Given the description of an element on the screen output the (x, y) to click on. 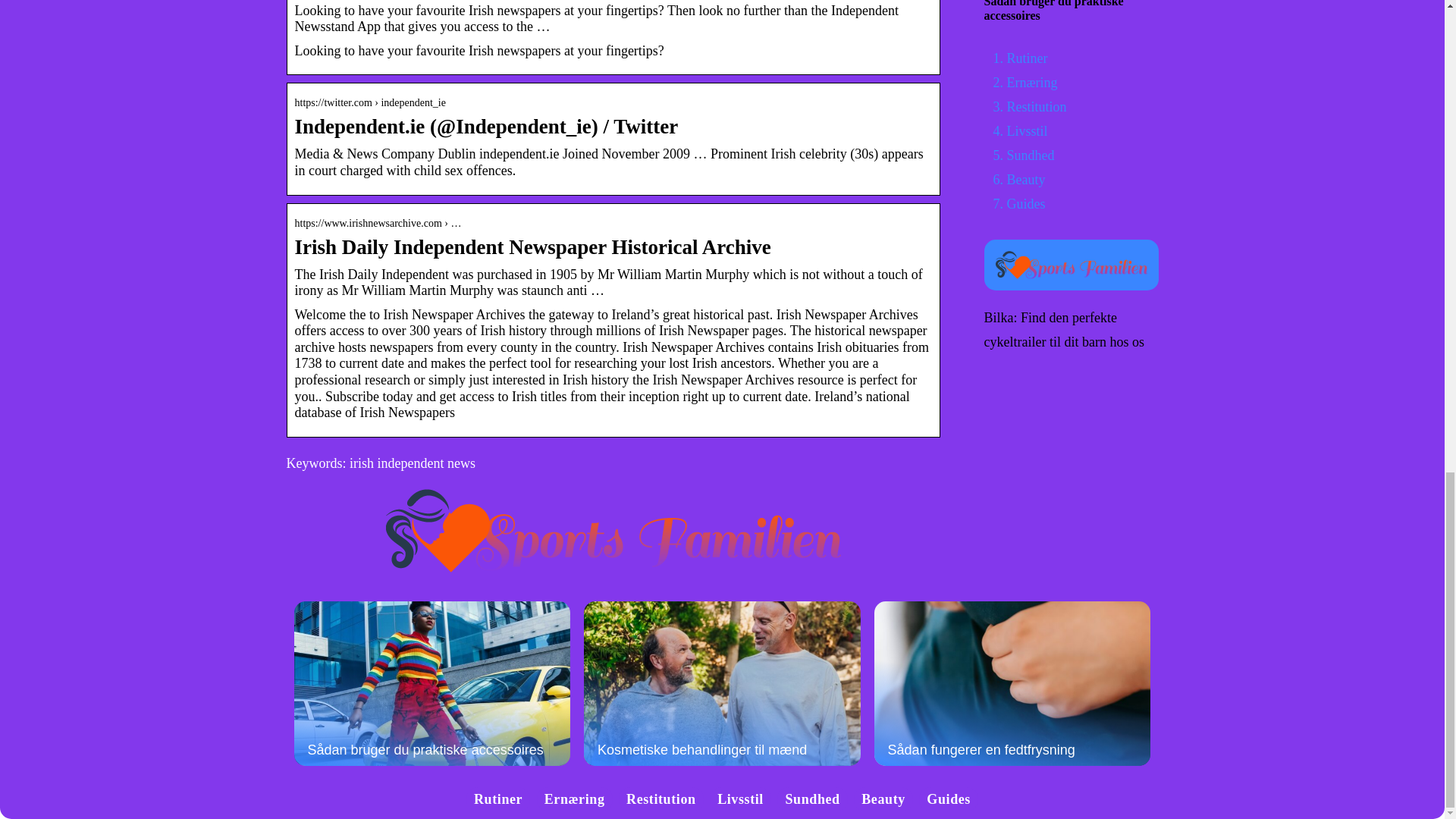
Beauty (883, 798)
Rutiner (498, 798)
Livsstil (739, 798)
Rutiner (1027, 58)
Restitution (660, 798)
Guides (948, 798)
Sundhed (812, 798)
Restitution (1037, 106)
Beauty (1026, 179)
Guides (1026, 203)
